Given the description of an element on the screen output the (x, y) to click on. 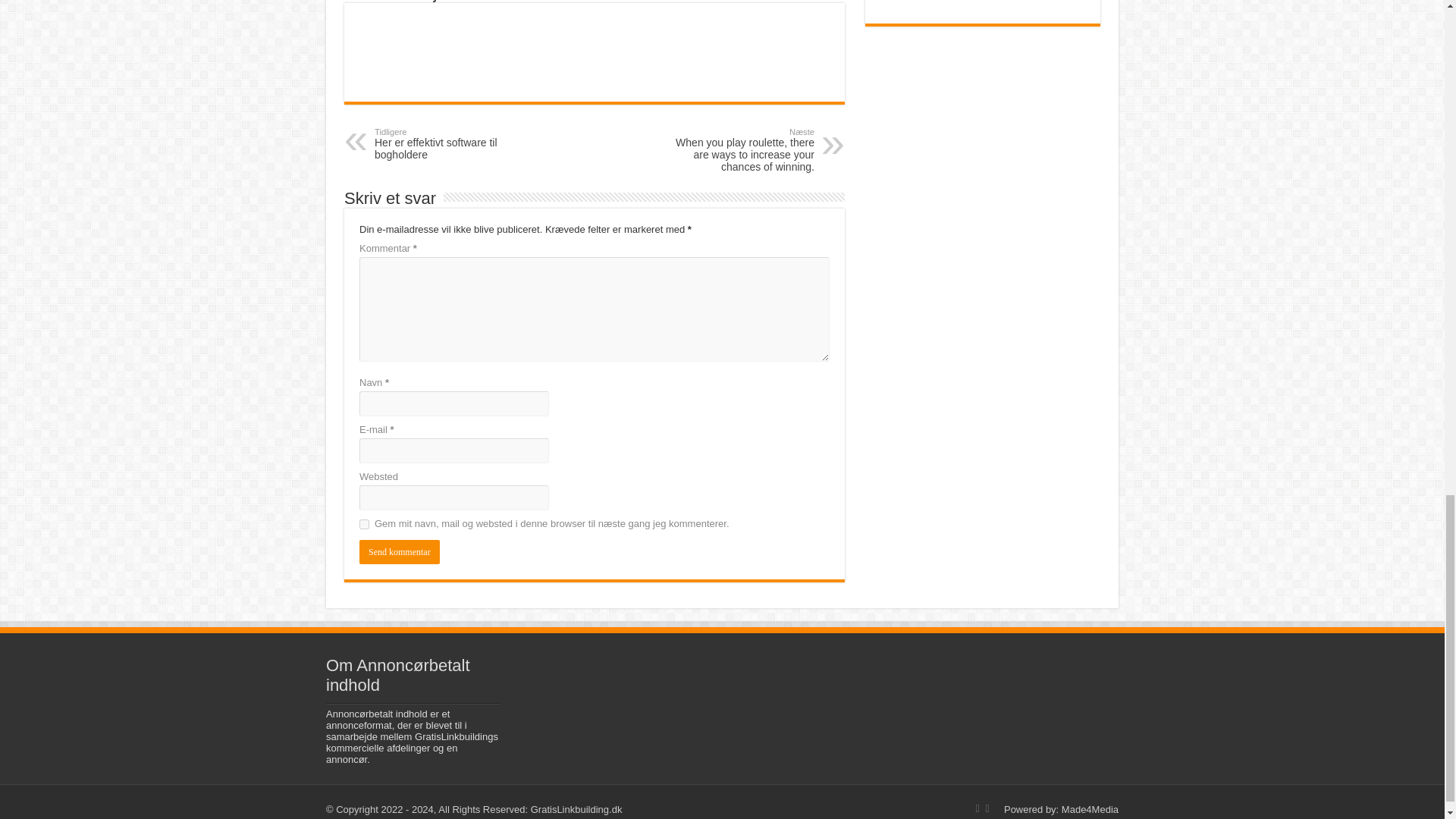
yes (364, 524)
Send kommentar (399, 551)
